Given the description of an element on the screen output the (x, y) to click on. 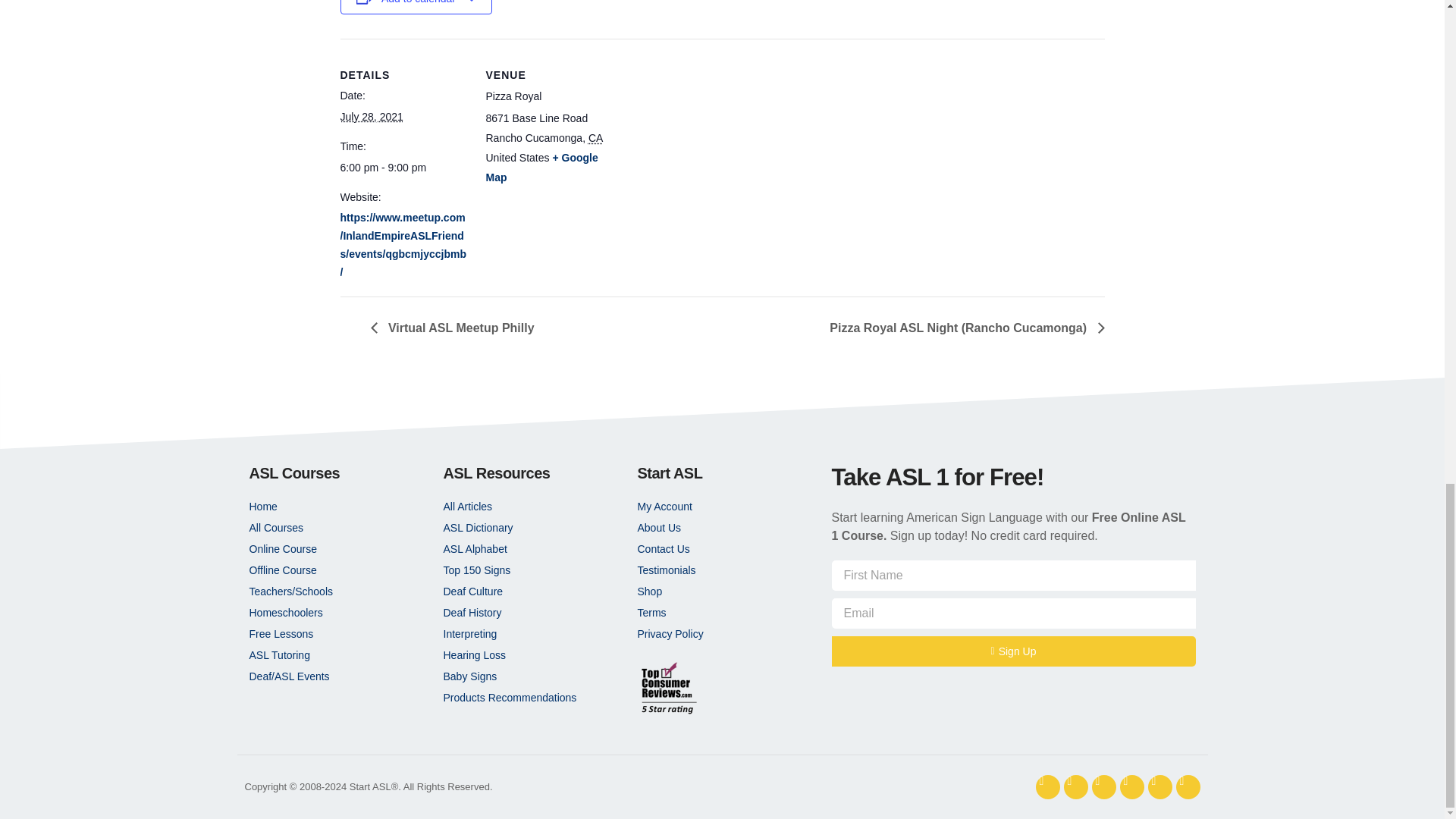
2021-07-28 (403, 167)
2021-07-28 (371, 116)
California (595, 137)
Click to view a Google Map (540, 167)
